Given the description of an element on the screen output the (x, y) to click on. 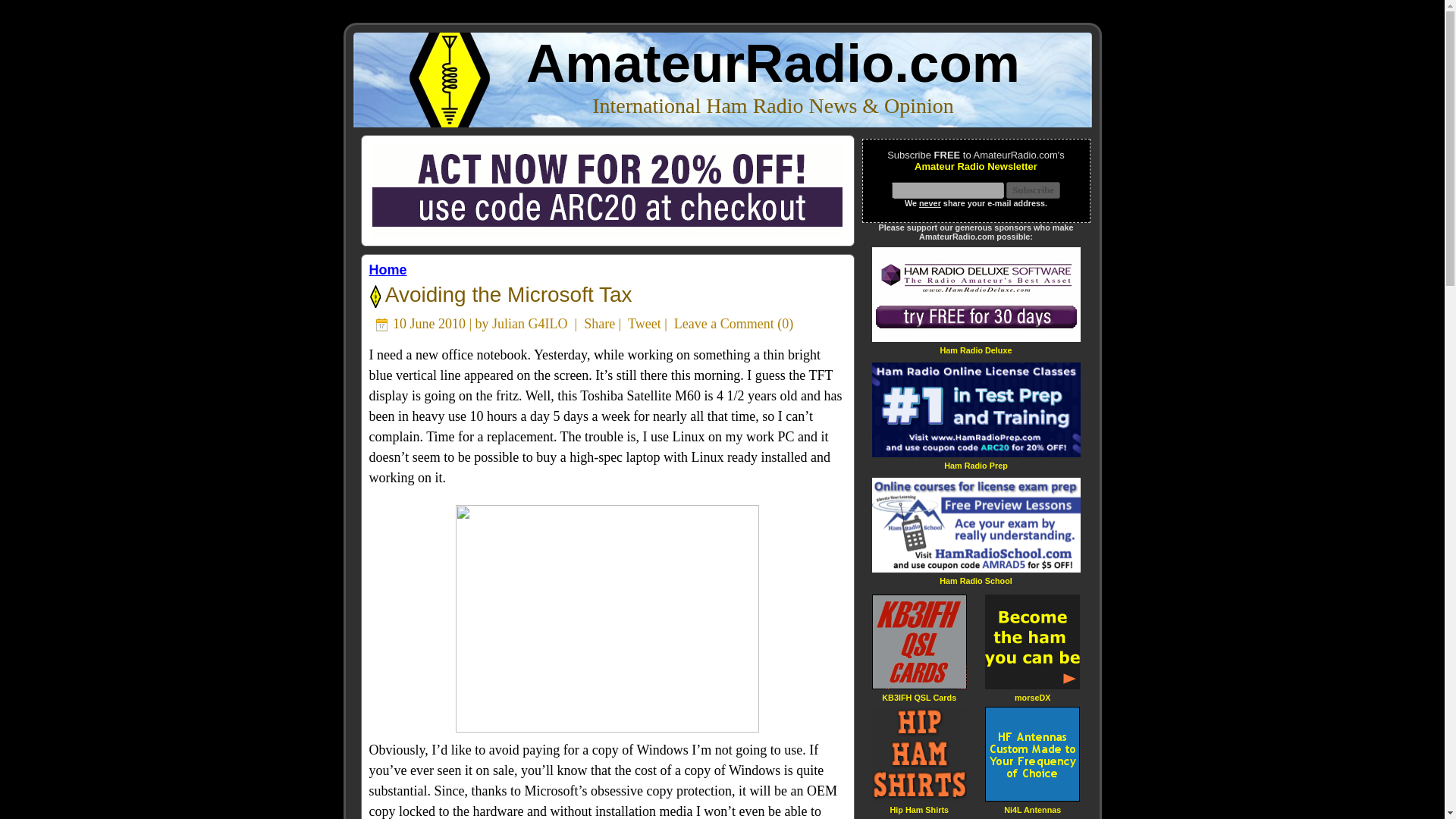
Ham Radio School (975, 580)
Avoiding the Microsoft Tax (505, 294)
Share (598, 323)
Tweet (644, 323)
Hip Ham Shirts (919, 808)
Avoiding the Microsoft Tax (505, 294)
Home (387, 269)
Subscribe (1032, 190)
Leave a Comment (724, 323)
Subscribe (1032, 190)
Ham Radio Prep (975, 464)
AmateurRadio.com (772, 63)
Ham Radio Deluxe (975, 349)
Julian G4ILO (529, 323)
KB3IFH QSL Cards (919, 696)
